Given the description of an element on the screen output the (x, y) to click on. 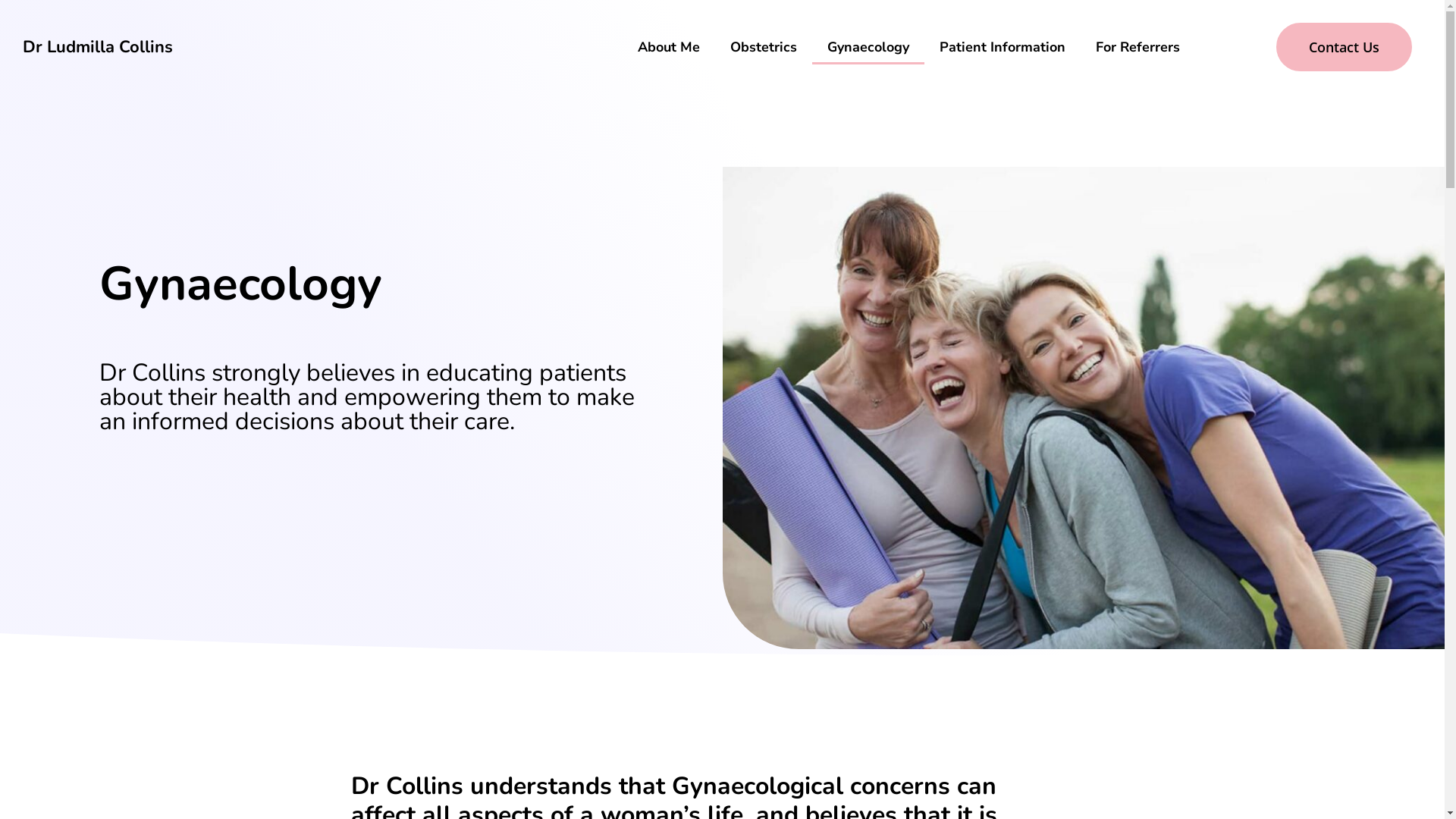
Dr Ludmilla Collins Element type: text (97, 46)
About Me Element type: text (668, 46)
Gynaecology Element type: text (868, 46)
For Referrers Element type: text (1137, 46)
Contact Us Element type: text (1344, 46)
Patient Information Element type: text (1002, 46)
Obstetrics Element type: text (763, 46)
